Given the description of an element on the screen output the (x, y) to click on. 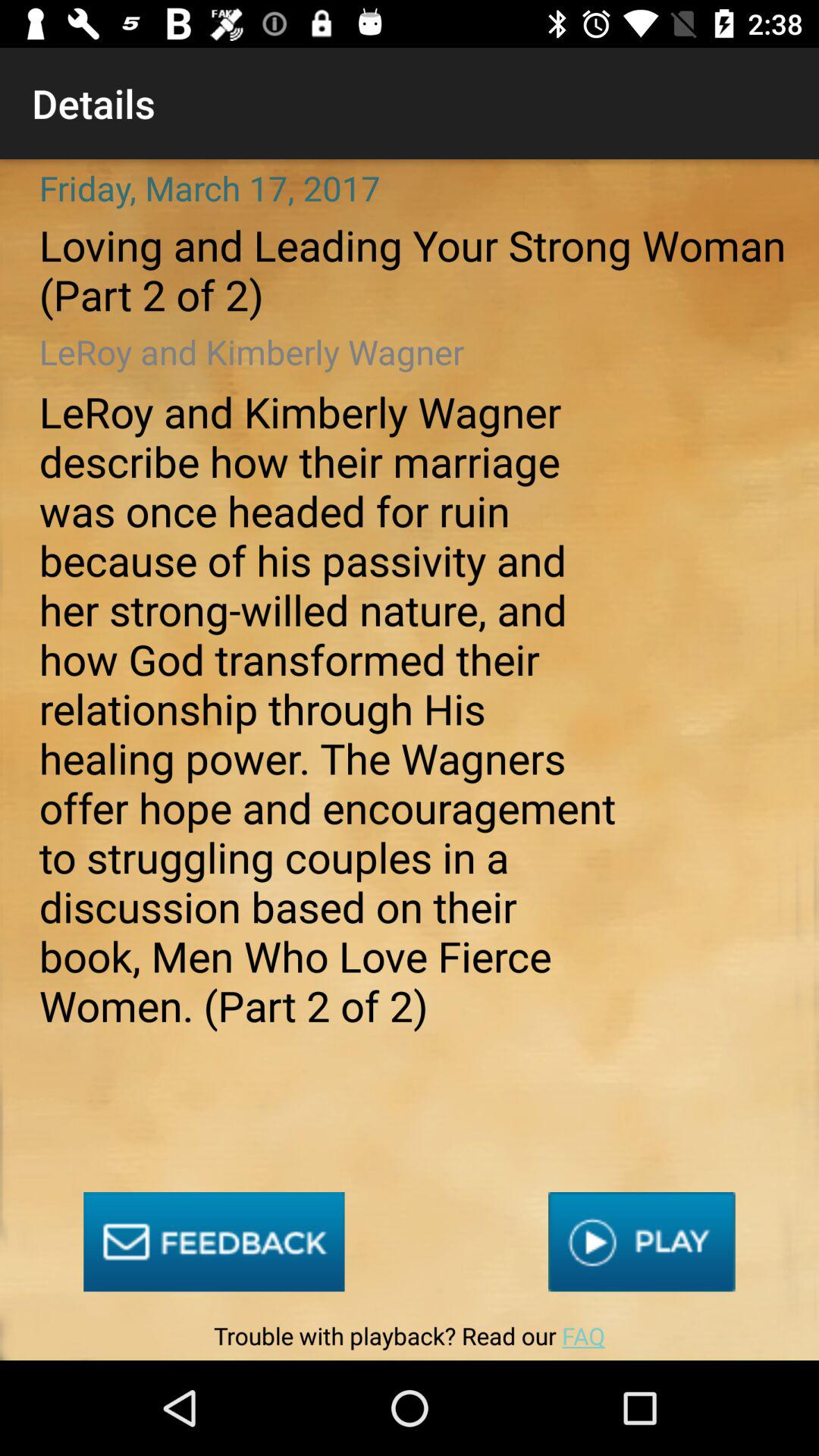
turn off the item at the bottom right corner (641, 1241)
